Given the description of an element on the screen output the (x, y) to click on. 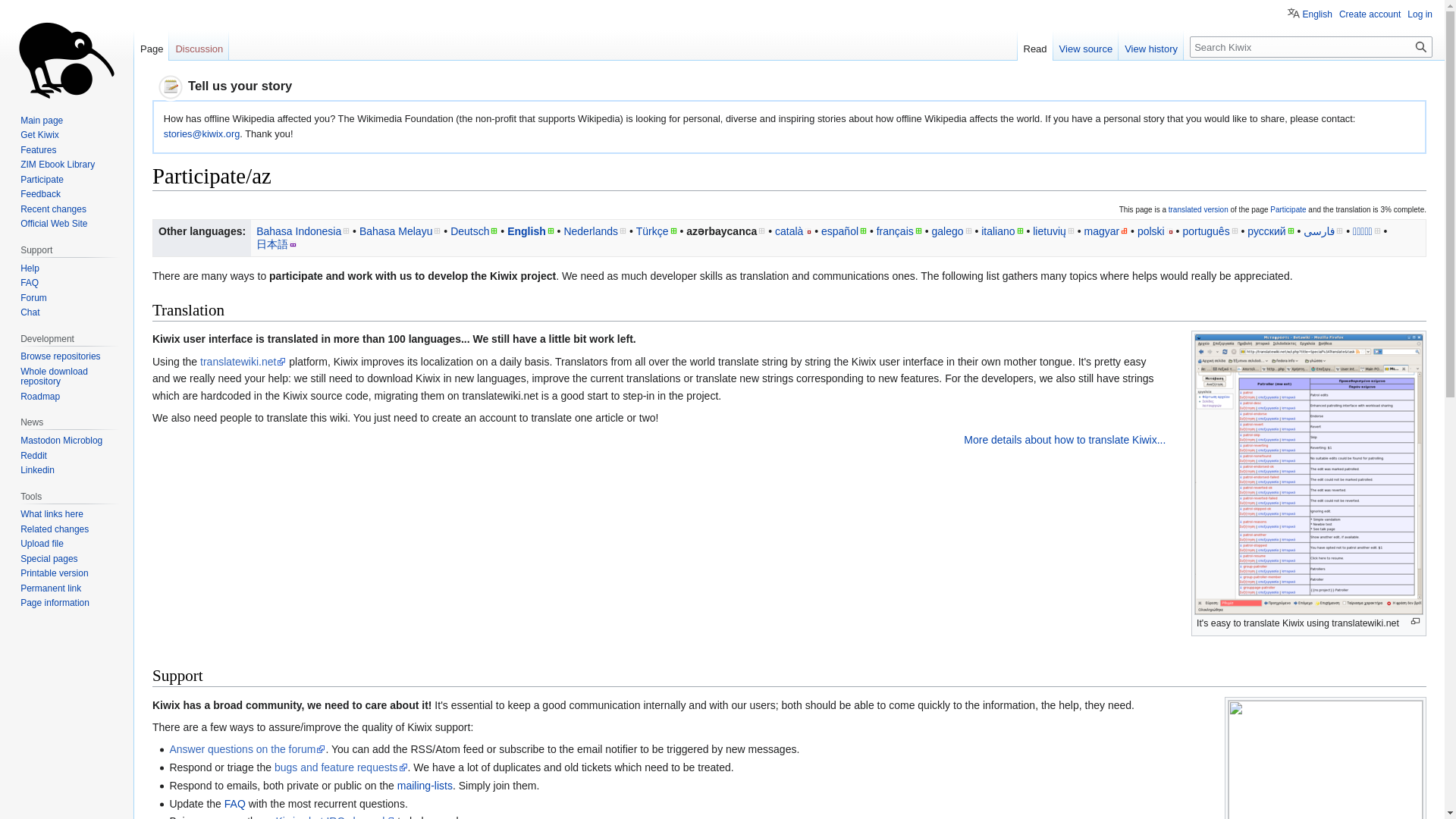
Search (1420, 46)
galego (951, 231)
translatewiki.net (242, 361)
Bahasa Indonesia (302, 231)
Nederlands (594, 231)
polski (1155, 231)
mailing-lists (424, 785)
translated version (1198, 209)
Bahasa Melayu (400, 231)
magyar (1106, 231)
Answer questions on the forum (246, 748)
FAQ (235, 803)
English (530, 231)
Go (1420, 46)
